Given the description of an element on the screen output the (x, y) to click on. 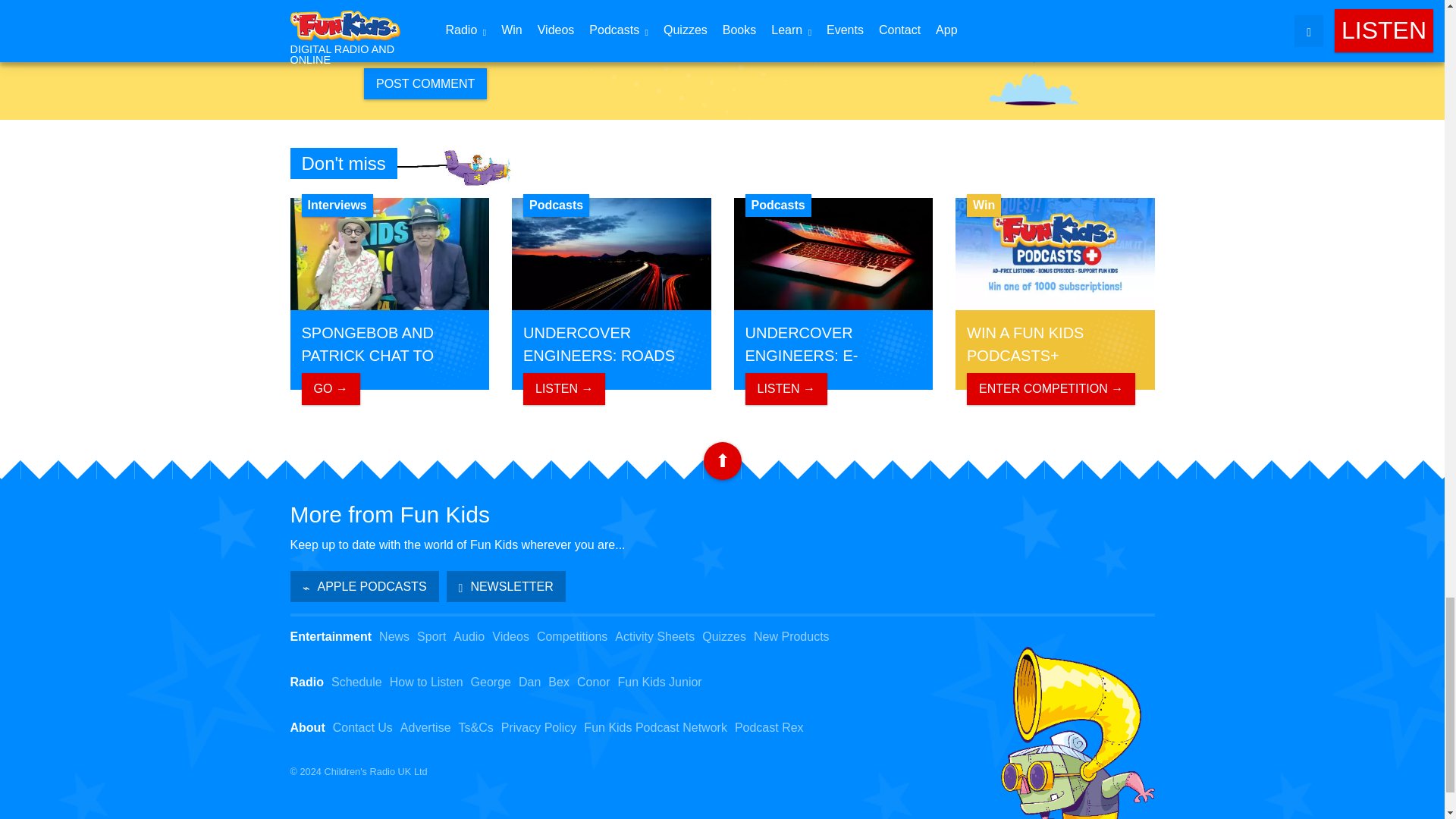
Back to top (722, 460)
Post Comment (425, 83)
